Given the description of an element on the screen output the (x, y) to click on. 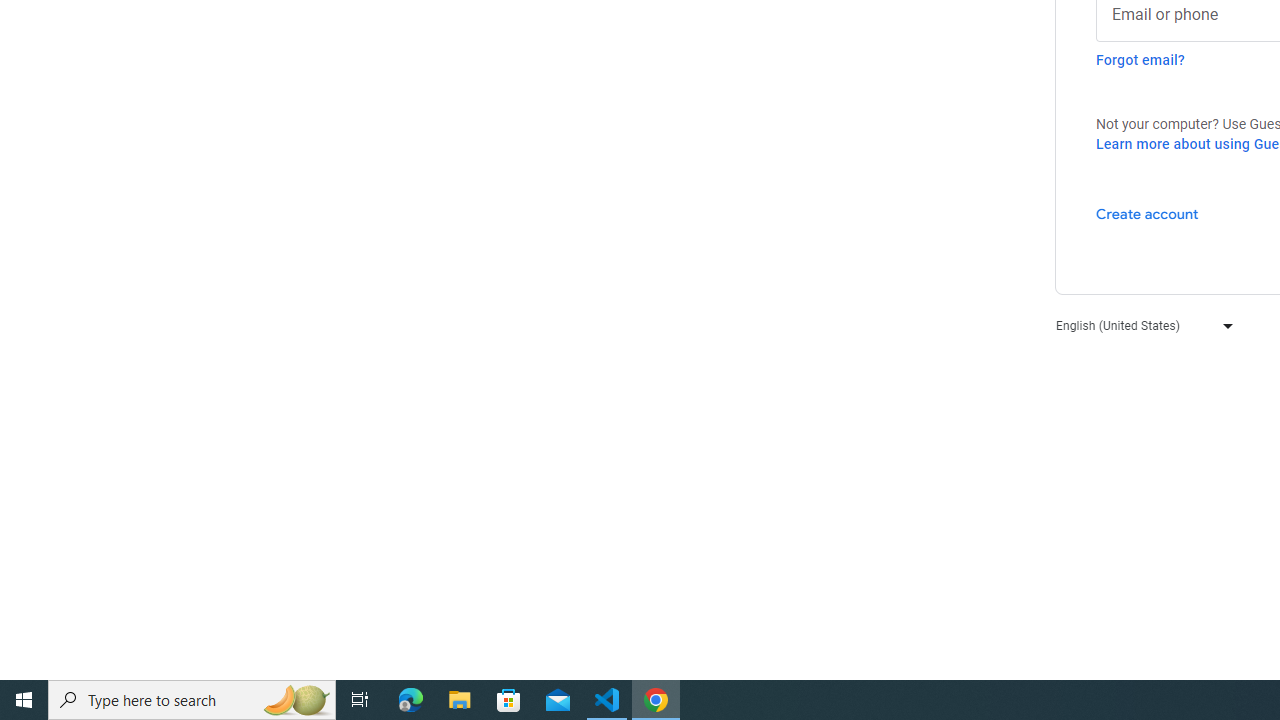
Create account (1146, 213)
Forgot email? (1140, 59)
